Given the description of an element on the screen output the (x, y) to click on. 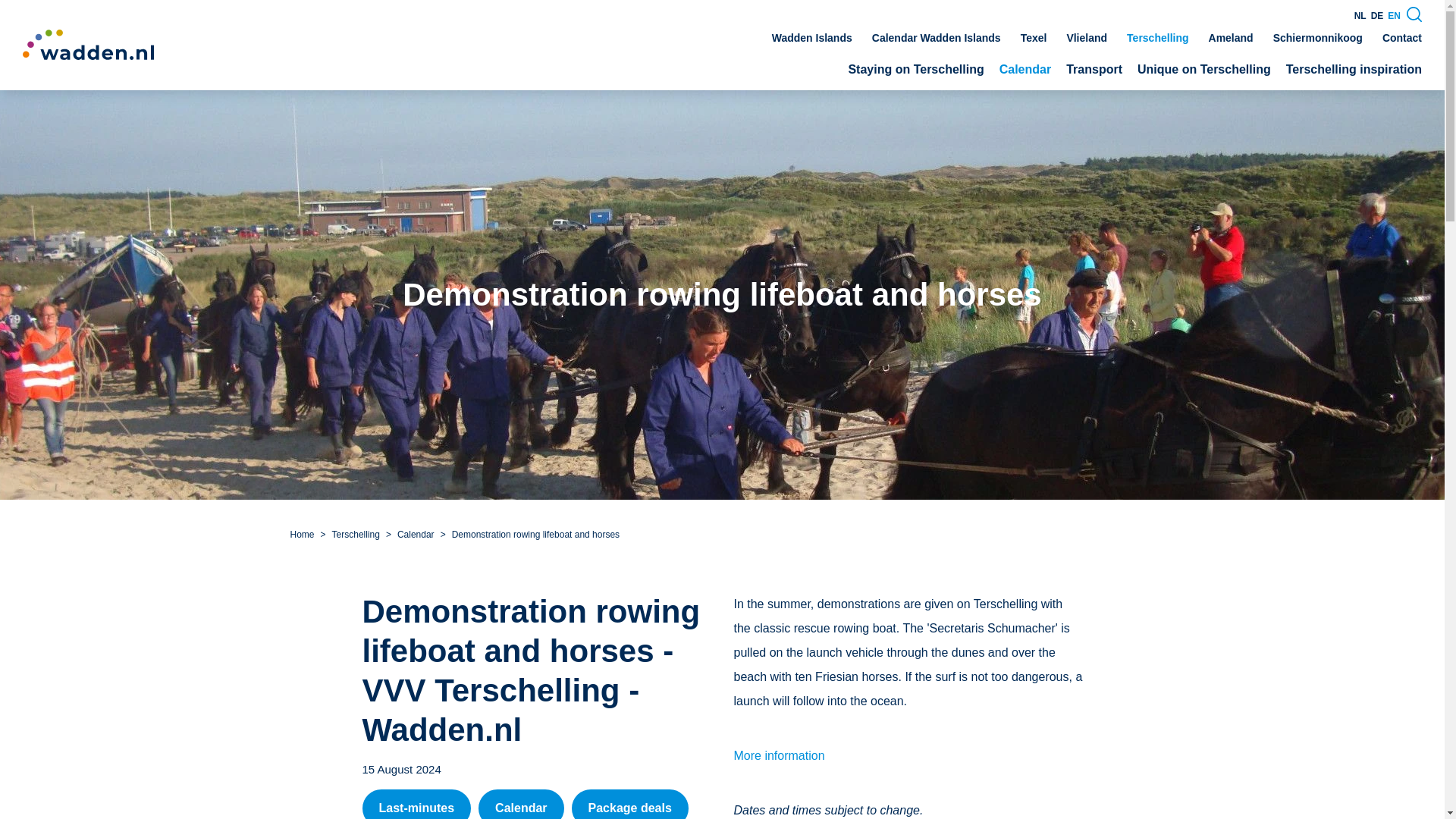
Wadden Islands (811, 37)
Calendar Wadden Islands (935, 37)
Wadden Islands (811, 37)
Wadden (88, 44)
Texel (1033, 37)
